Given the description of an element on the screen output the (x, y) to click on. 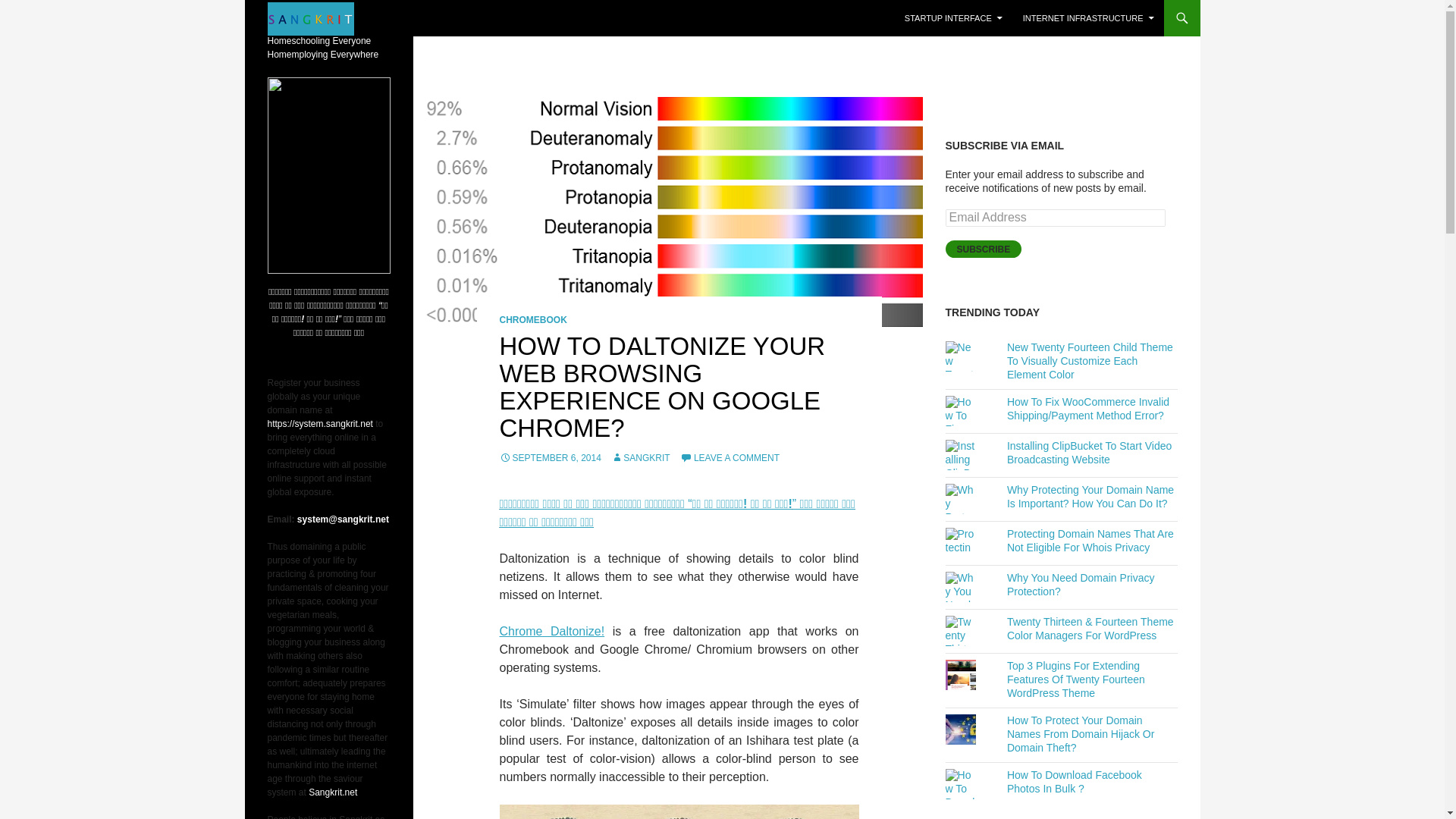
CHROMEBOOK (532, 319)
STARTUP INTERFACE (953, 18)
LEAVE A COMMENT (728, 457)
Chrome Daltonize! (551, 631)
INTERNET INFRASTRUCTURE (1088, 18)
SEPTEMBER 6, 2014 (549, 457)
SANGKRIT (640, 457)
Chrome Daltonize! (551, 631)
